Given the description of an element on the screen output the (x, y) to click on. 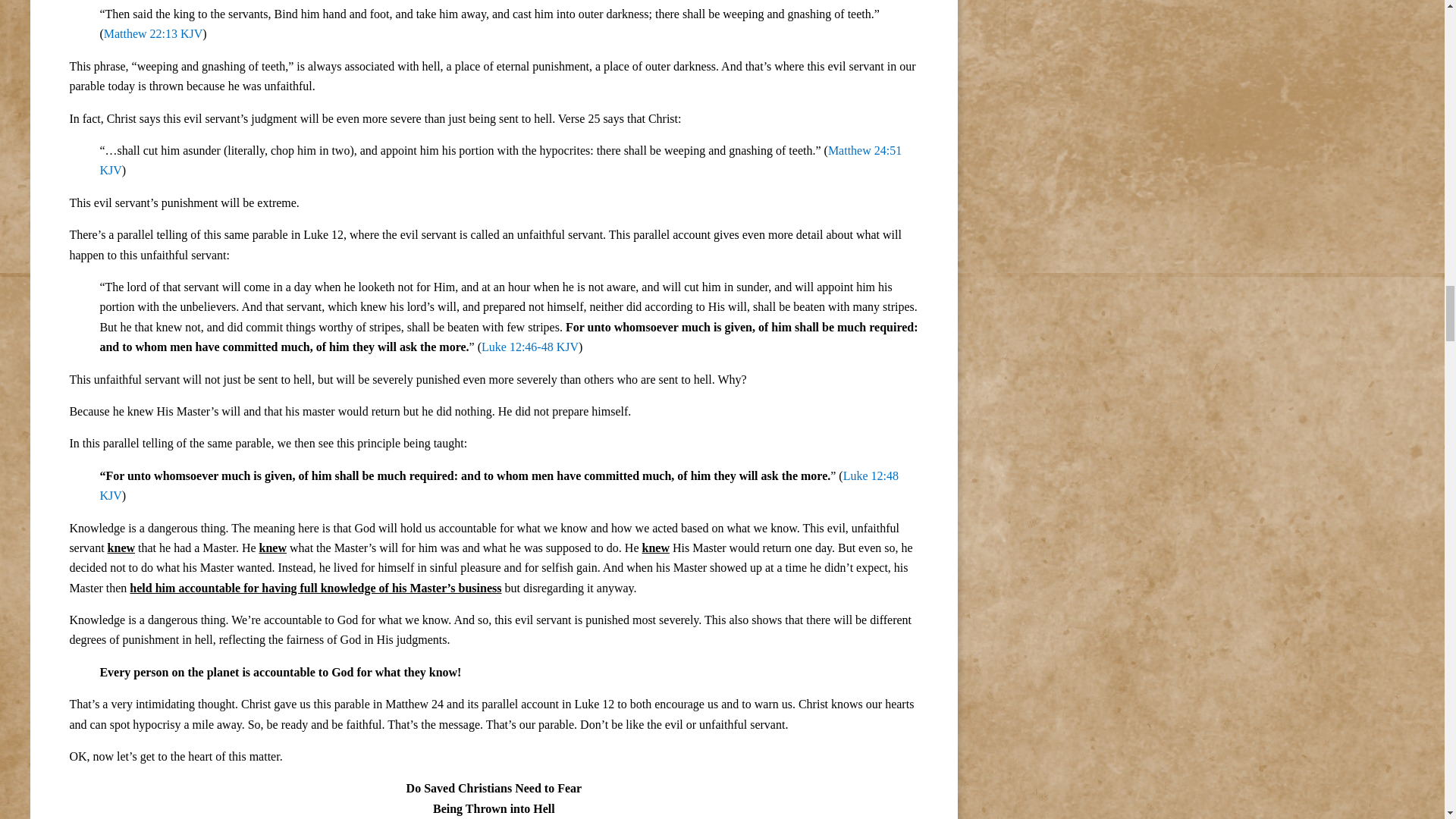
Matthew 22:13 KJV (153, 33)
